Given the description of an element on the screen output the (x, y) to click on. 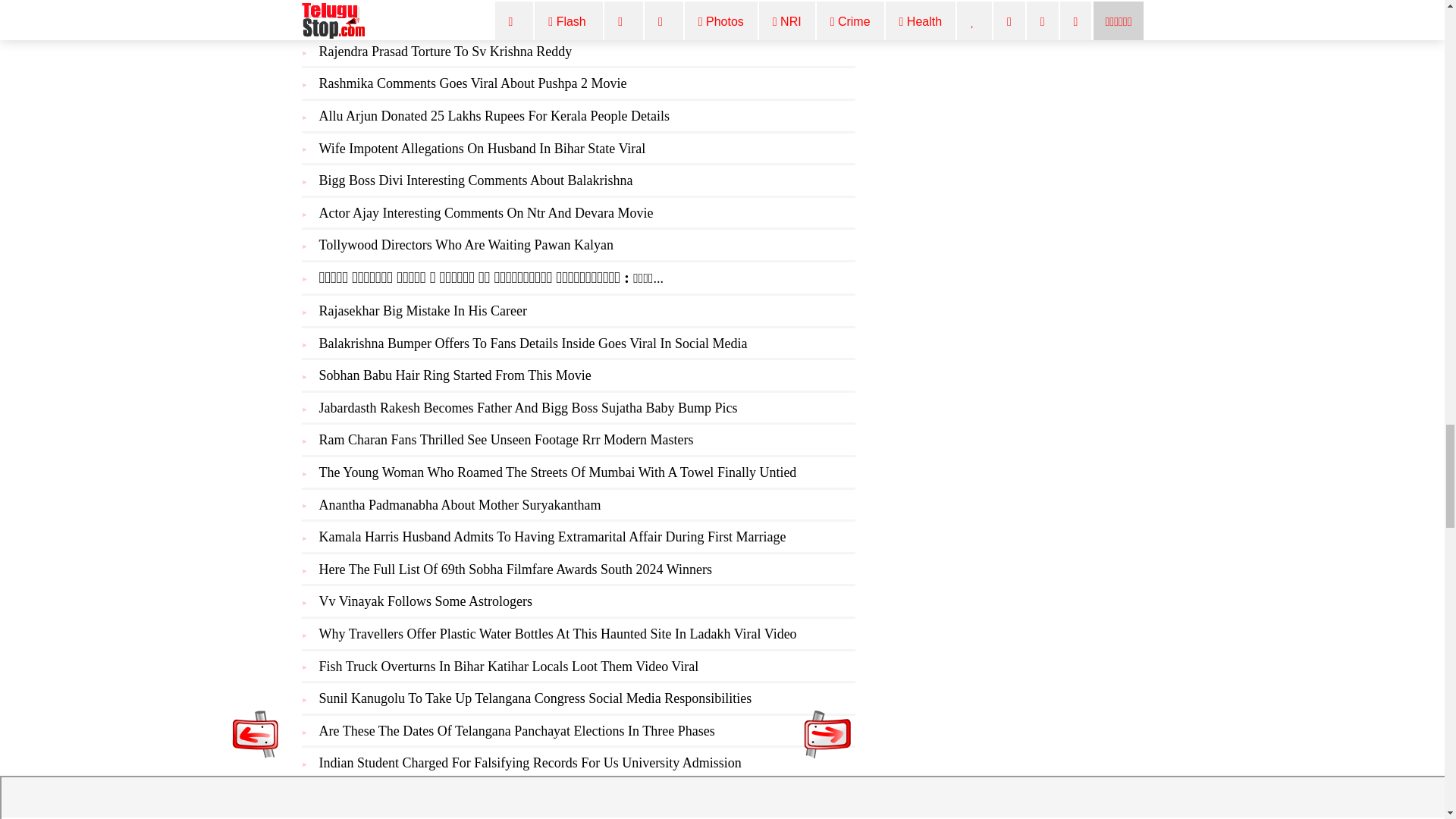
Sobhan Babu Hair Ring Started From This Movie (454, 375)
Rashmika Comments Goes Viral About Pushpa 2 Movie (472, 83)
Rajendra Prasad Torture To Sv Krishna Reddy (445, 51)
Actor Ajay Interesting Comments On Ntr And Devara Movie (485, 212)
Tollywood Directors Who Are Waiting Pawan Kalyan (465, 244)
Bigg Boss Divi Interesting Comments About Balakrishna (474, 180)
Rajasekhar Big Mistake In His Career (421, 310)
Wife Impotent Allegations On Husband In Bihar State Viral (481, 148)
Allu Arjun Donated 25 Lakhs Rupees For Kerala People Details (493, 115)
